Given the description of an element on the screen output the (x, y) to click on. 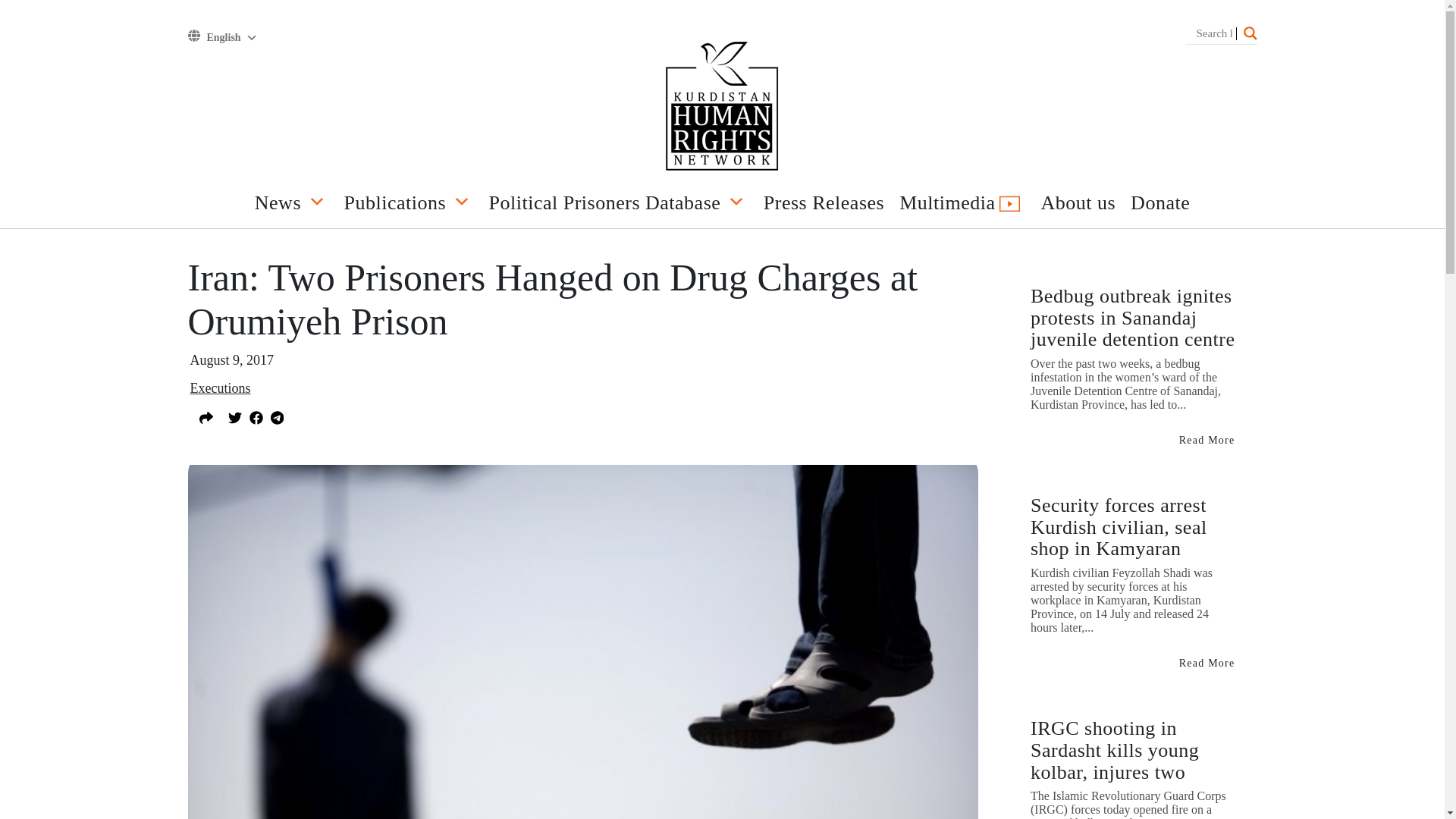
English (231, 37)
facebook (255, 416)
Political Prisoners Database (618, 206)
News (291, 206)
Publications (408, 206)
Twitter (234, 416)
KHRN (721, 107)
